Given the description of an element on the screen output the (x, y) to click on. 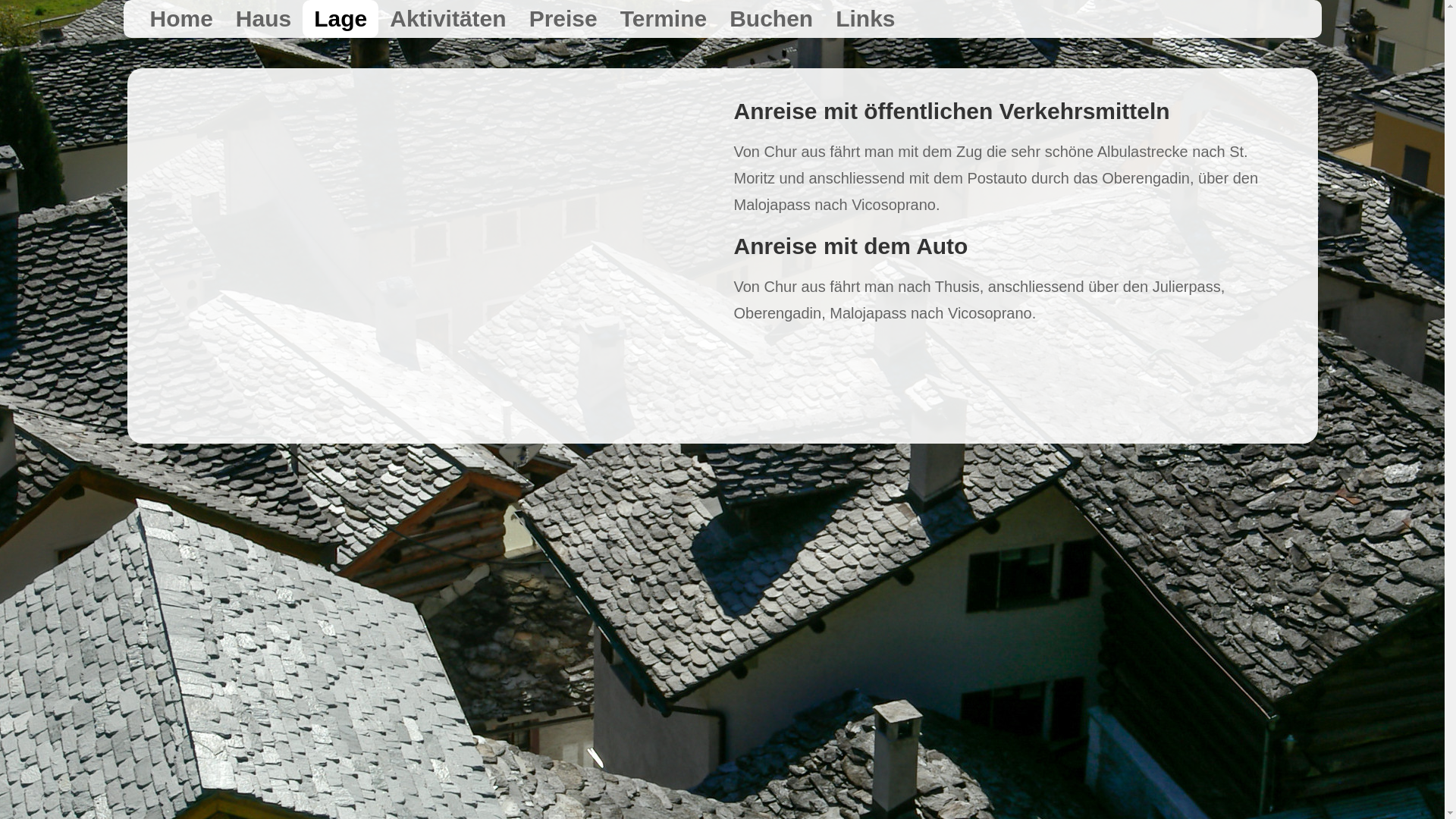
Haus Element type: text (263, 18)
Home Element type: text (180, 18)
Preise Element type: text (562, 18)
Buchen Element type: text (771, 18)
Lage Element type: text (340, 18)
Termine Element type: text (663, 18)
Links Element type: text (865, 18)
